Given the description of an element on the screen output the (x, y) to click on. 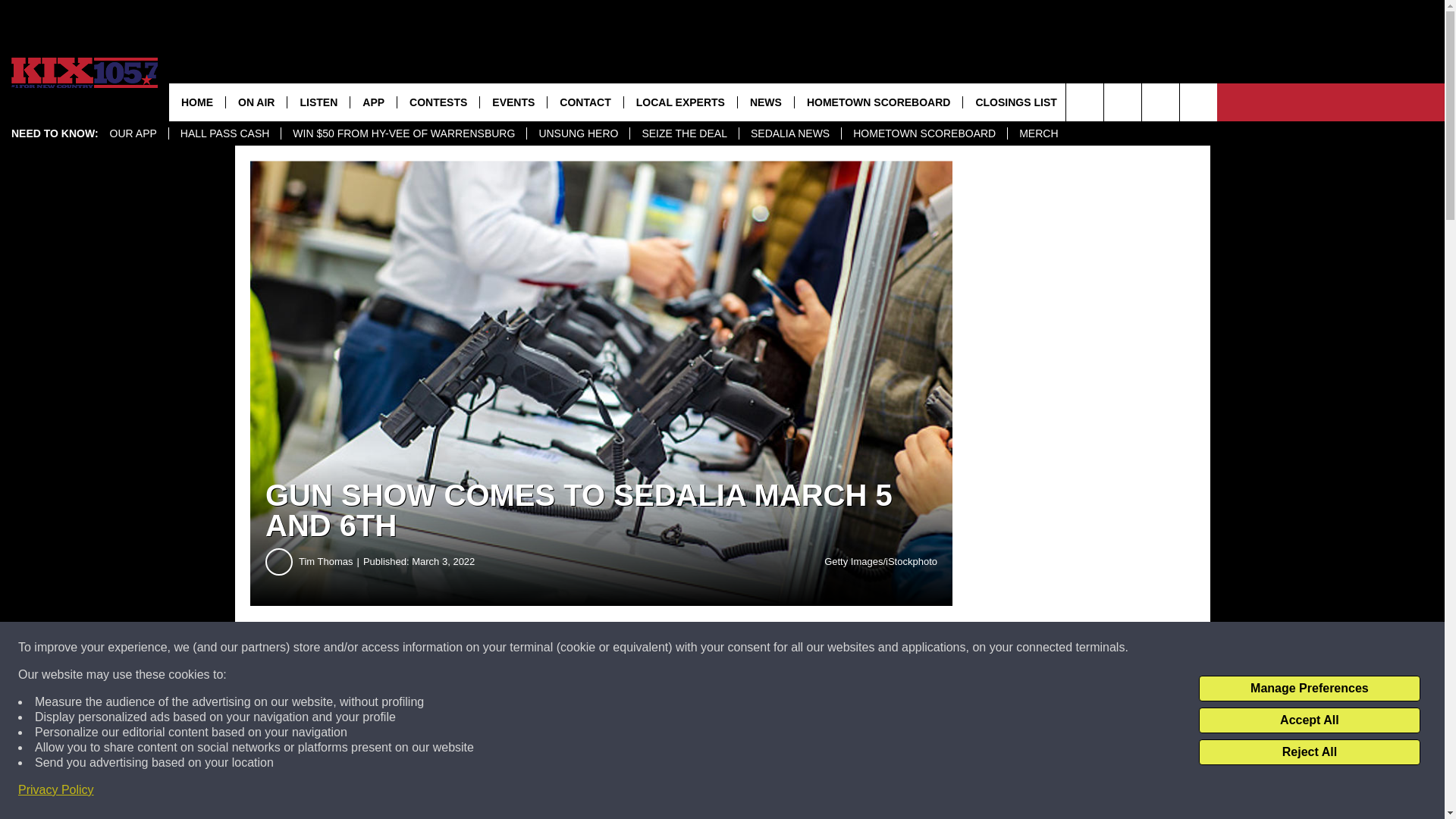
UNSUNG HERO (576, 133)
HOMETOWN SCOREBOARD (924, 133)
ON AIR (255, 102)
Manage Preferences (1309, 688)
Accept All (1309, 720)
SEIZE THE DEAL (683, 133)
HOME (196, 102)
SEDALIA NEWS (789, 133)
Reject All (1309, 751)
LISTEN (317, 102)
